Given the description of an element on the screen output the (x, y) to click on. 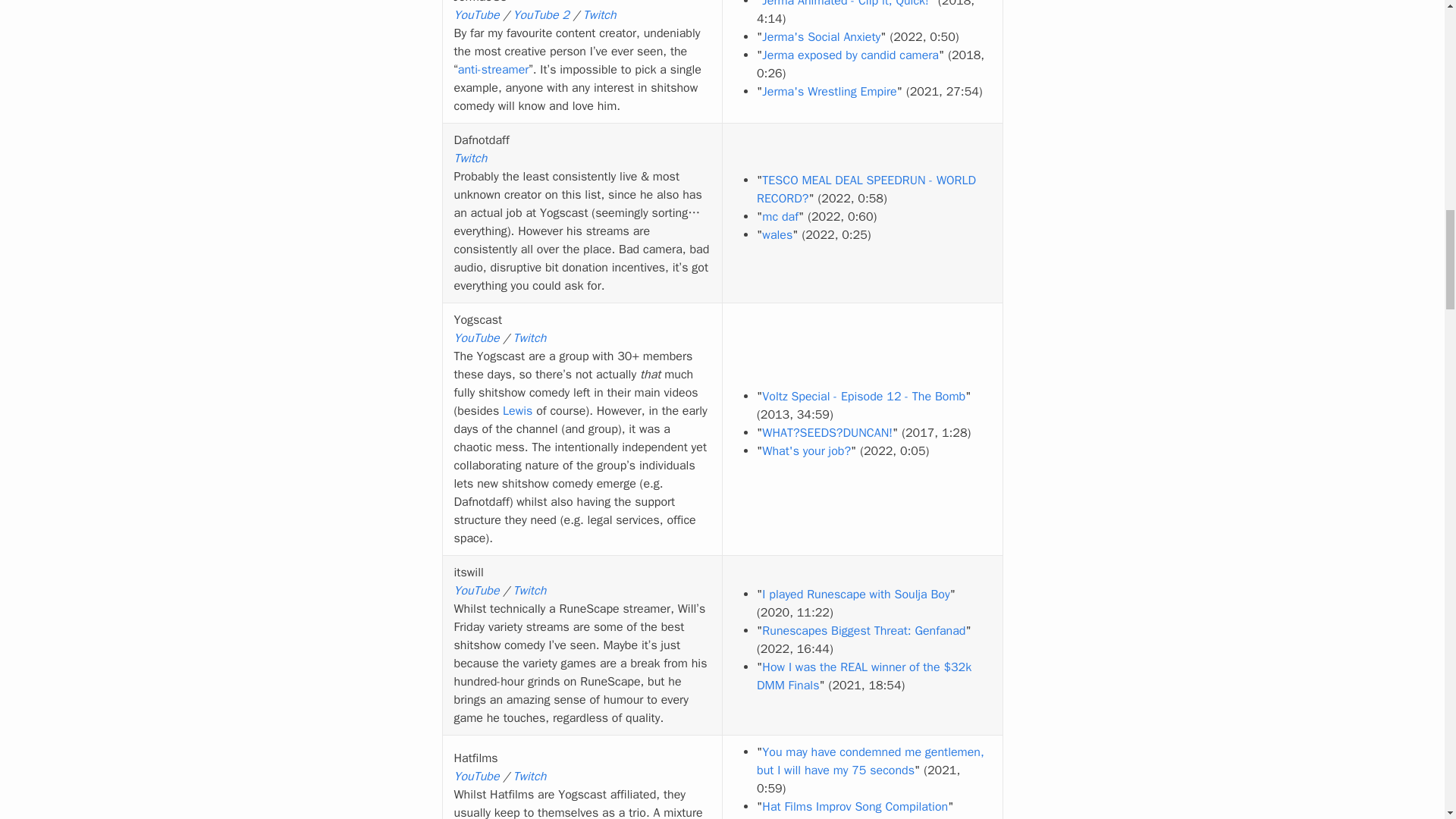
Jerma Animated - Clip it, Quick! (844, 4)
YouTube 2 (540, 14)
Twitch (599, 14)
YouTube (475, 14)
anti-streamer (493, 69)
Jerma's Social Anxiety (820, 37)
